Given the description of an element on the screen output the (x, y) to click on. 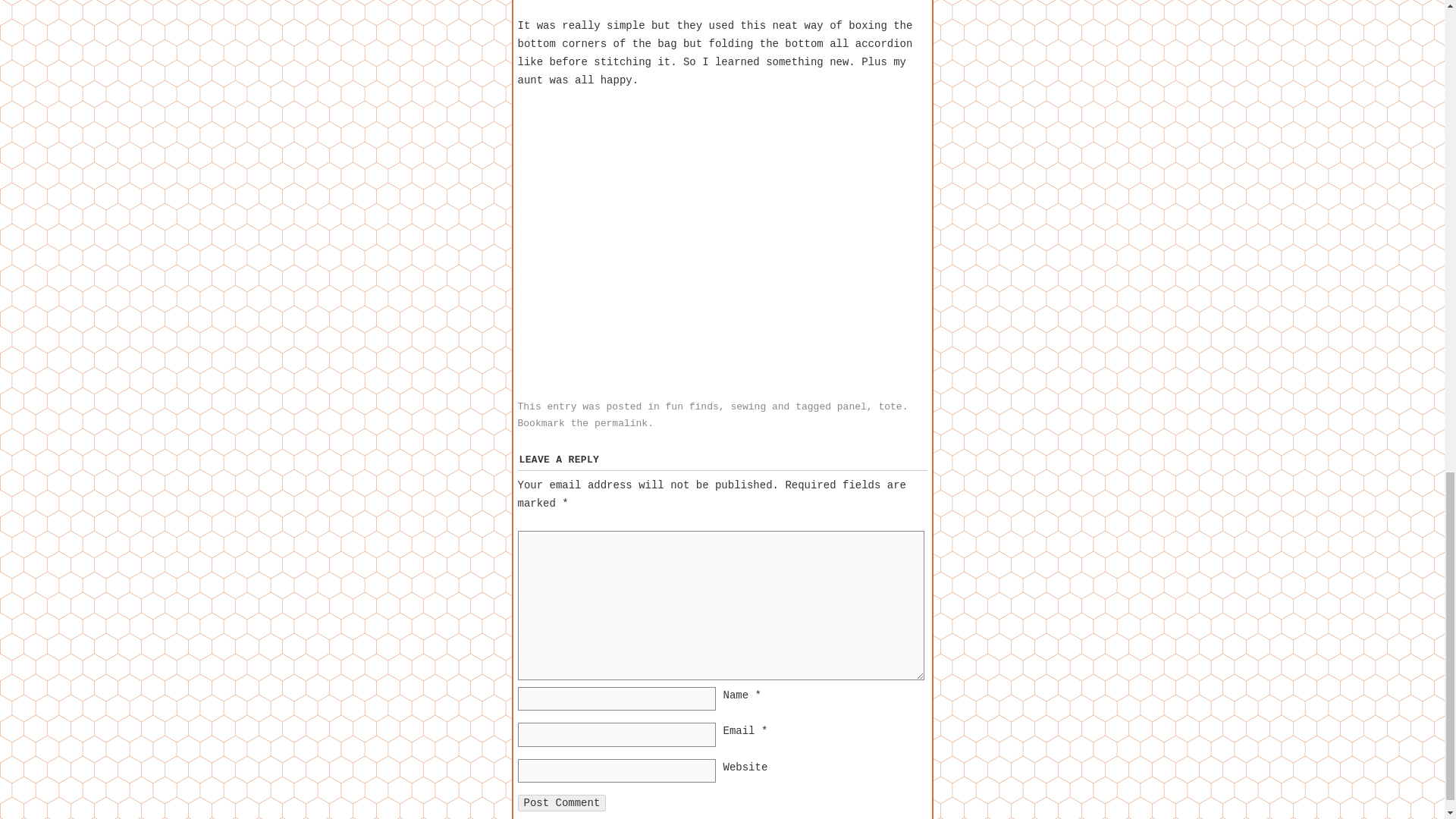
Post Comment (560, 802)
sewing (747, 406)
Permalink to Why I sew all sorts of things. (620, 423)
tote (889, 406)
Post Comment (560, 802)
fun finds (692, 406)
permalink (620, 423)
panel (851, 406)
